Given the description of an element on the screen output the (x, y) to click on. 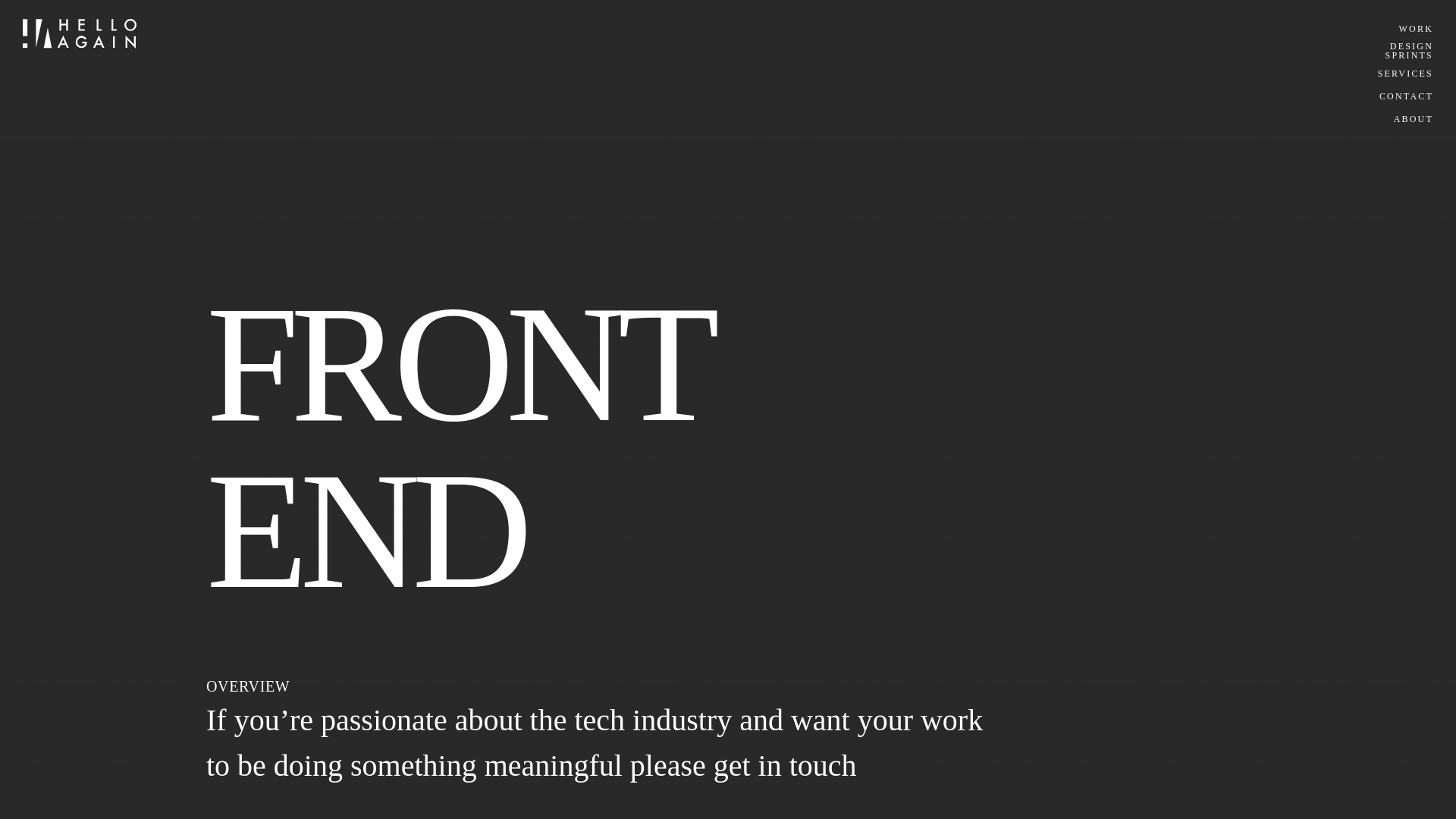
ABOUT (1412, 118)
CONTACT (1405, 95)
SERVICES (1404, 72)
WORK (1415, 28)
